Given the description of an element on the screen output the (x, y) to click on. 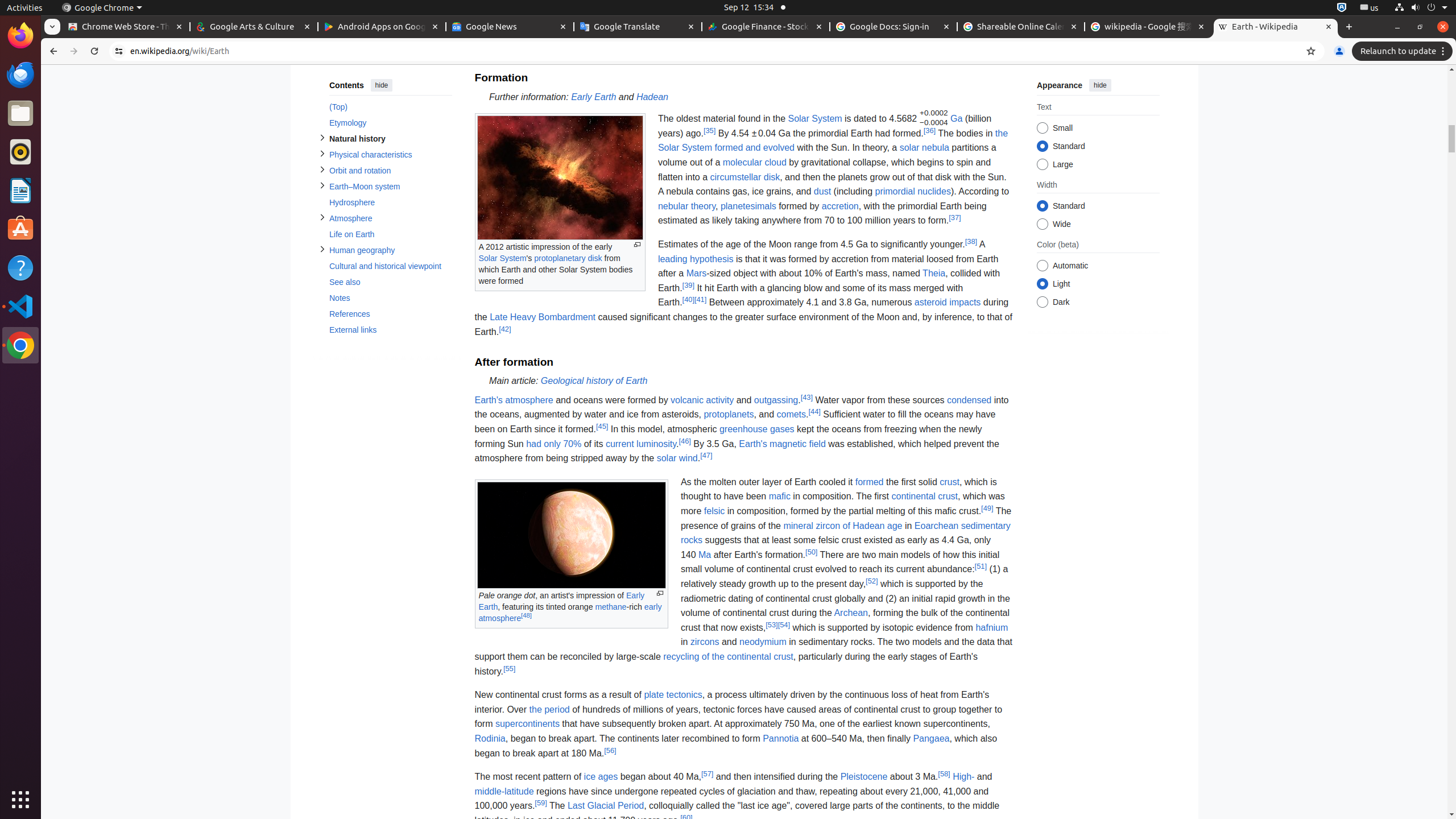
Earth–Moon system Element type: link (390, 186)
Google Chrome Element type: menu (101, 7)
volcanic activity Element type: link (702, 399)
You Element type: push-button (1339, 50)
Toggle Human geography subsection Element type: push-button (321, 248)
